Given the description of an element on the screen output the (x, y) to click on. 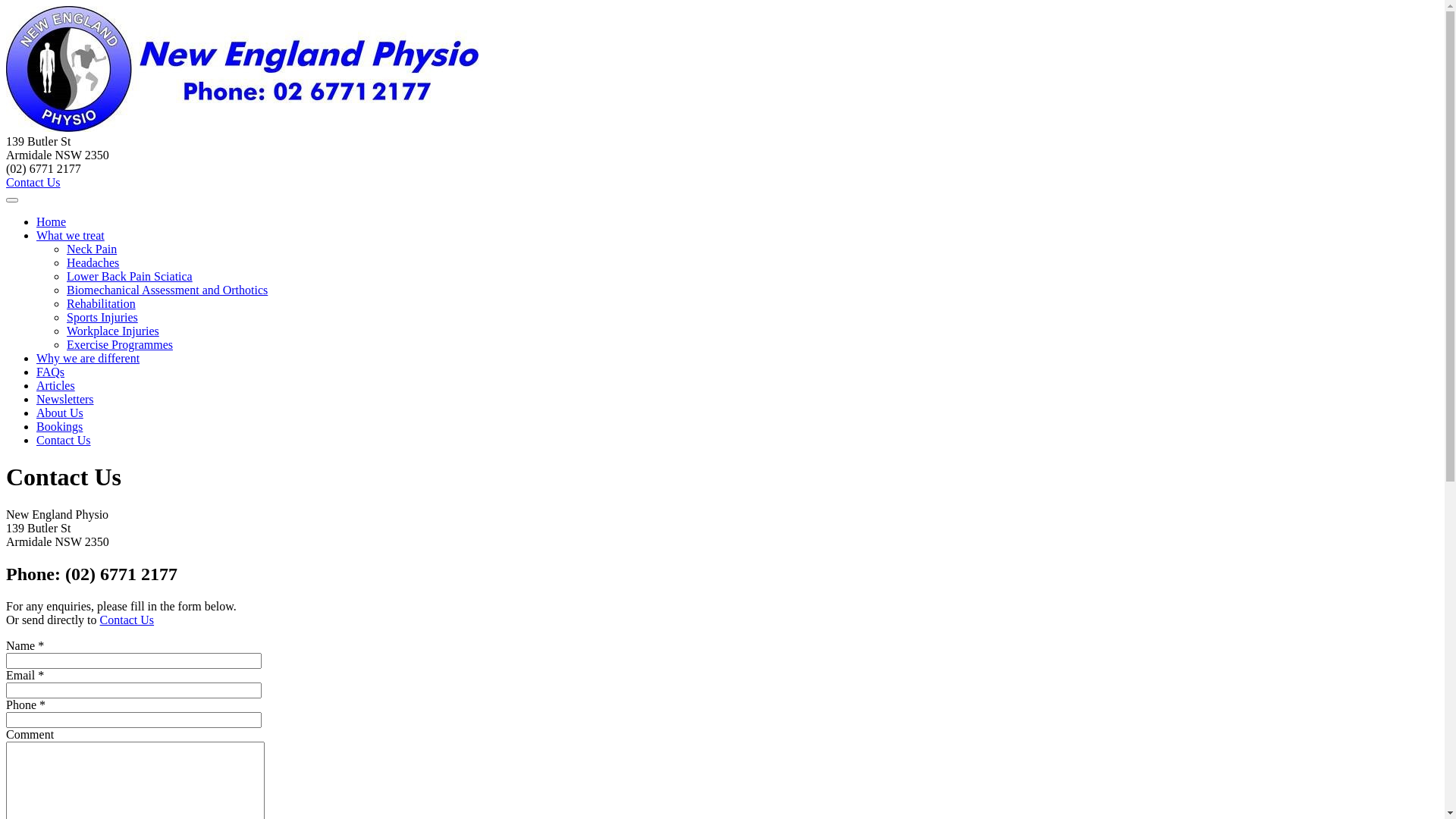
Why we are different Element type: text (87, 357)
Articles Element type: text (55, 385)
Biomechanical Assessment and Orthotics Element type: text (166, 289)
Exercise Programmes Element type: text (119, 344)
Rehabilitation Element type: text (100, 303)
Sports Injuries Element type: text (102, 316)
Contact Us Element type: text (127, 619)
Home Element type: text (50, 221)
Headaches Element type: text (92, 262)
Neck Pain Element type: text (91, 248)
FAQs Element type: text (50, 371)
Lower Back Pain Sciatica Element type: text (129, 275)
Workplace Injuries Element type: text (112, 330)
About Us Element type: text (59, 412)
Newsletters Element type: text (65, 398)
What we treat Element type: text (70, 235)
Bookings Element type: text (59, 426)
Contact Us Element type: text (63, 439)
Contact Us Element type: text (33, 181)
